Given the description of an element on the screen output the (x, y) to click on. 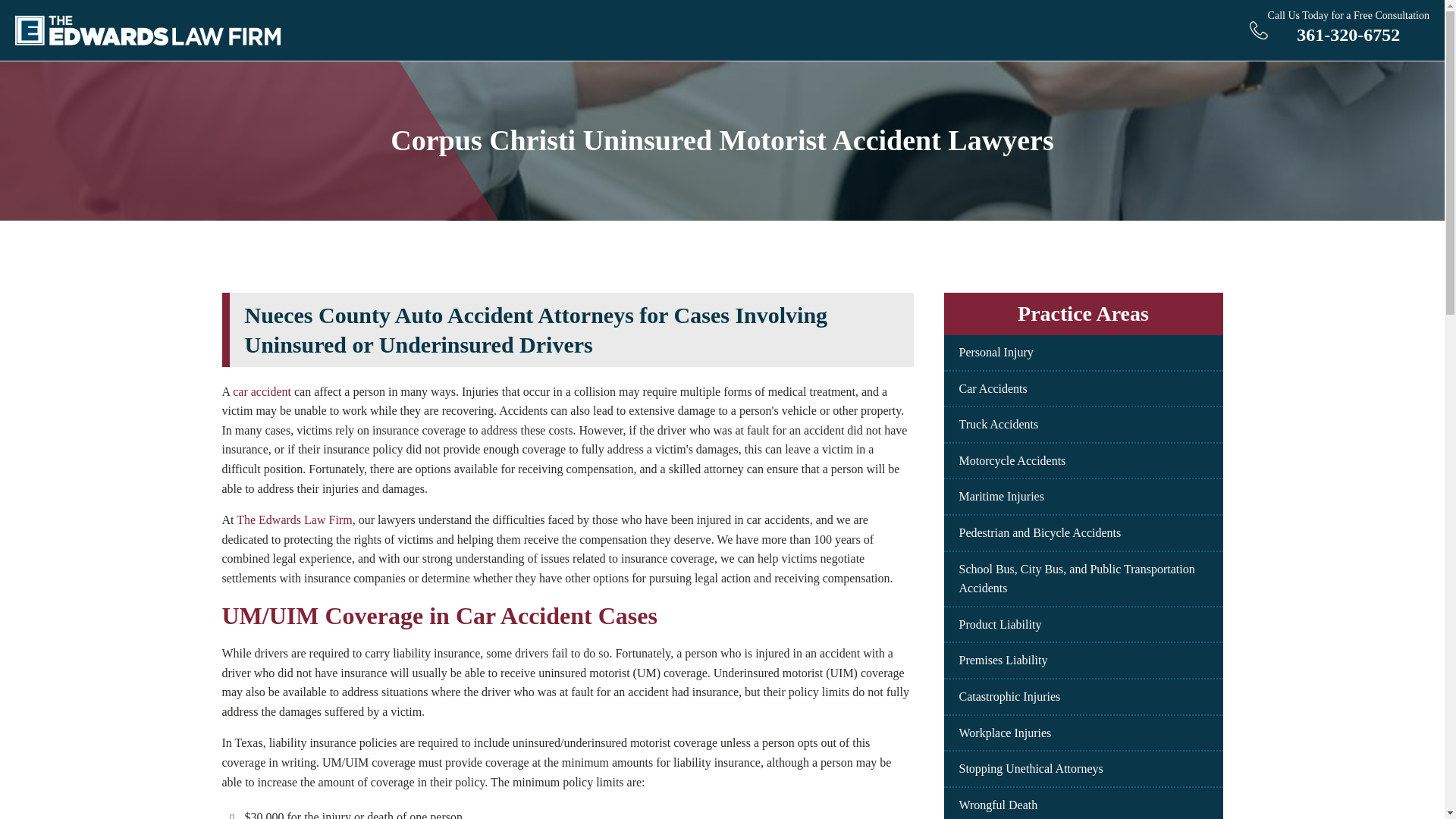
Wrongful Death (997, 804)
Pedestrian and Bicycle Accidents (1039, 532)
car accident (261, 391)
Product Liability (999, 624)
The Edwards Law Firm (293, 519)
Personal Injury (995, 351)
Truck Accidents (998, 423)
Premises Liability (1002, 659)
Maritime Injuries (1000, 495)
Catastrophic Injuries (1008, 696)
Motorcycle Accidents (1011, 460)
Workplace Injuries (1339, 30)
Car Accidents (1004, 732)
School Bus, City Bus, and Public Transportation Accidents (992, 388)
